Given the description of an element on the screen output the (x, y) to click on. 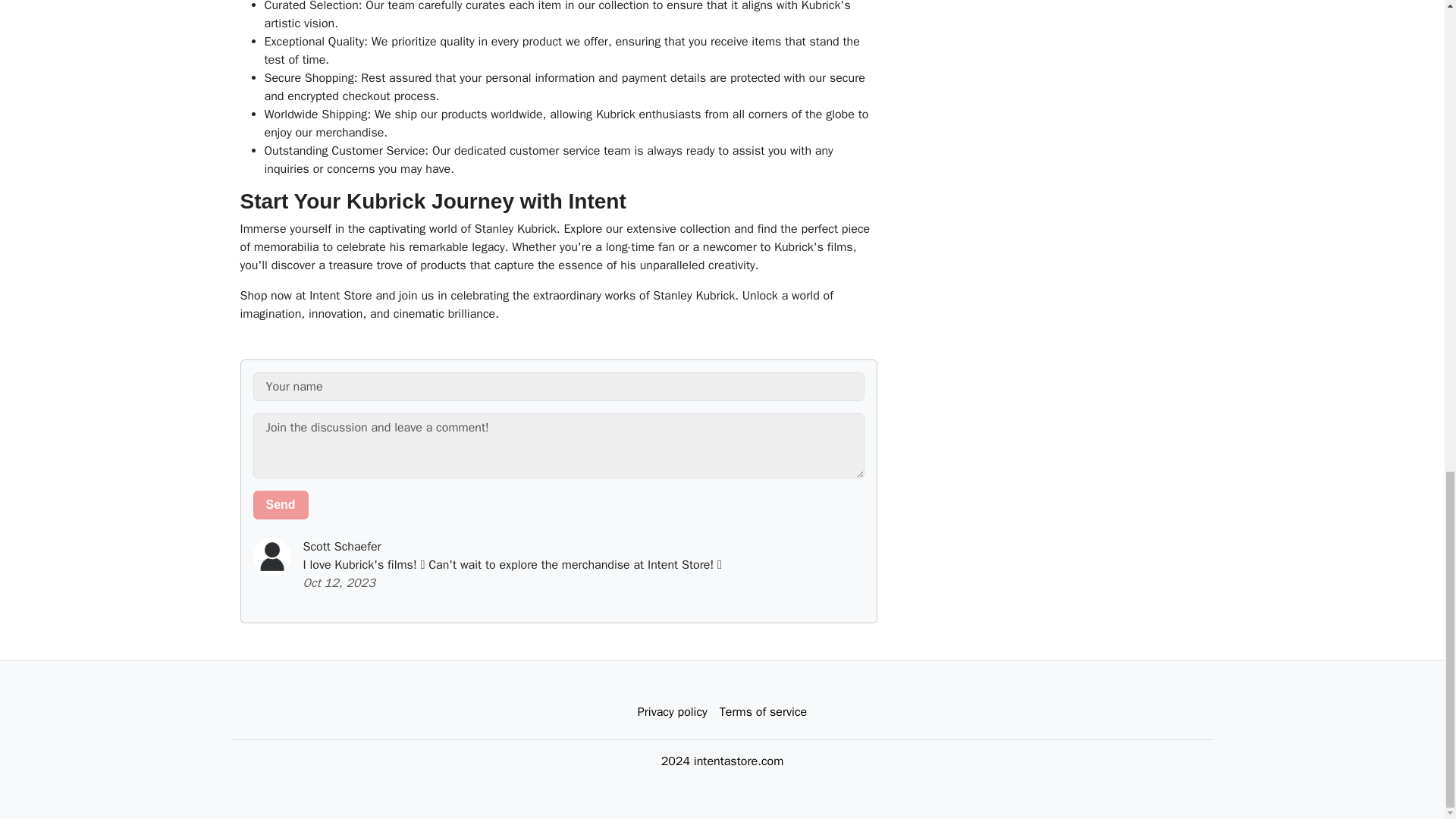
Terms of service (762, 711)
Send (280, 504)
Send (280, 504)
Privacy policy (672, 711)
